Given the description of an element on the screen output the (x, y) to click on. 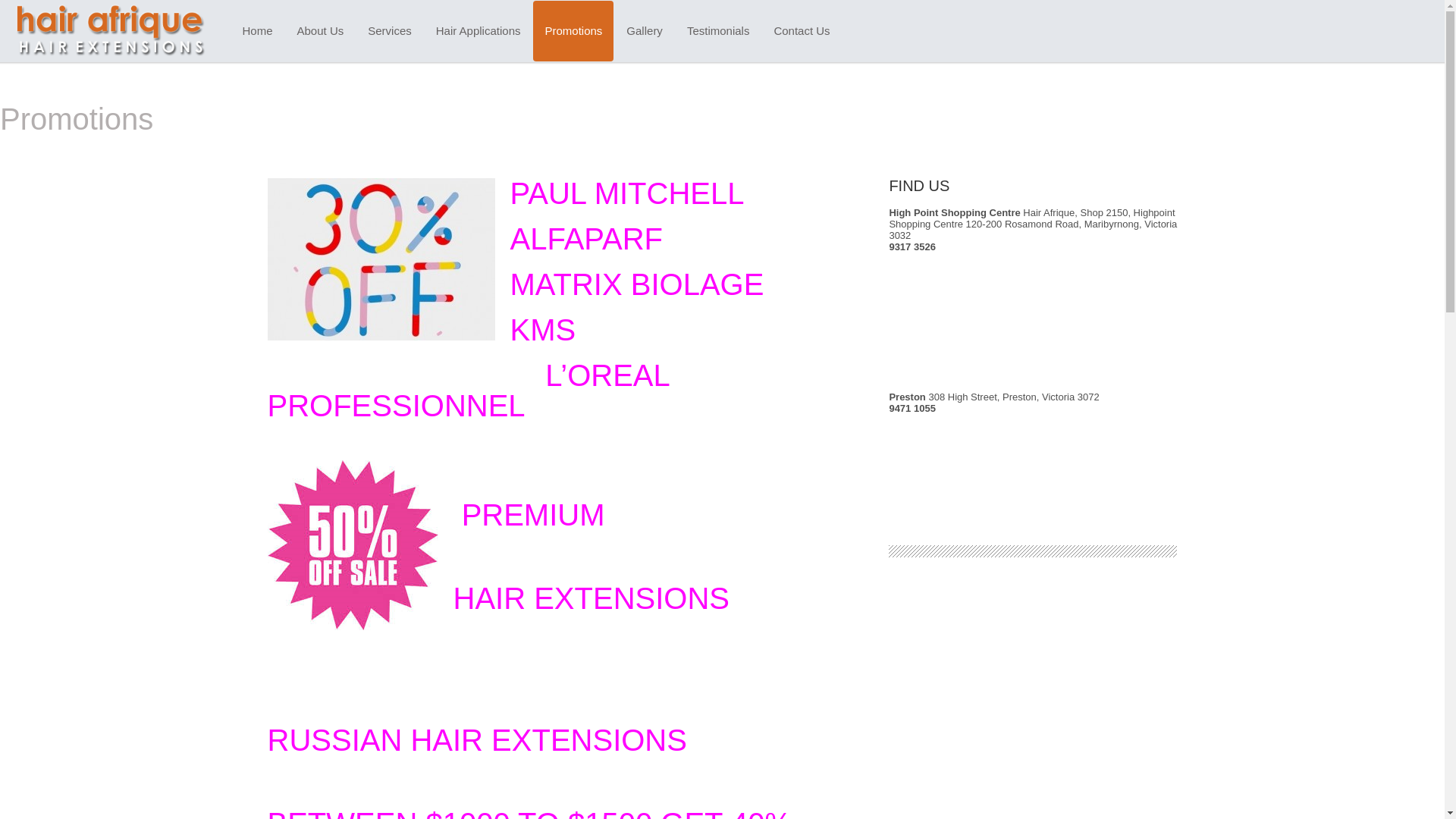
9317 3526 Element type: text (911, 246)
Hair Afrique, Shop 2150, Highpoint Shopping Centre Element type: text (1031, 218)
Contact Us Element type: text (801, 30)
9471 1055 Element type: text (911, 408)
Promotions Element type: text (573, 30)
Services Element type: text (389, 30)
About Us Element type: text (320, 30)
Gallery Element type: text (644, 30)
Home Element type: text (256, 30)
Hair Applications Element type: text (478, 30)
120-200 Rosamond Road, Maribyrnong, Victoria 3032 Element type: text (1032, 229)
308 High Street, Preston, Victoria 3072 Element type: text (1013, 396)
Testimonials Element type: text (718, 30)
